Given the description of an element on the screen output the (x, y) to click on. 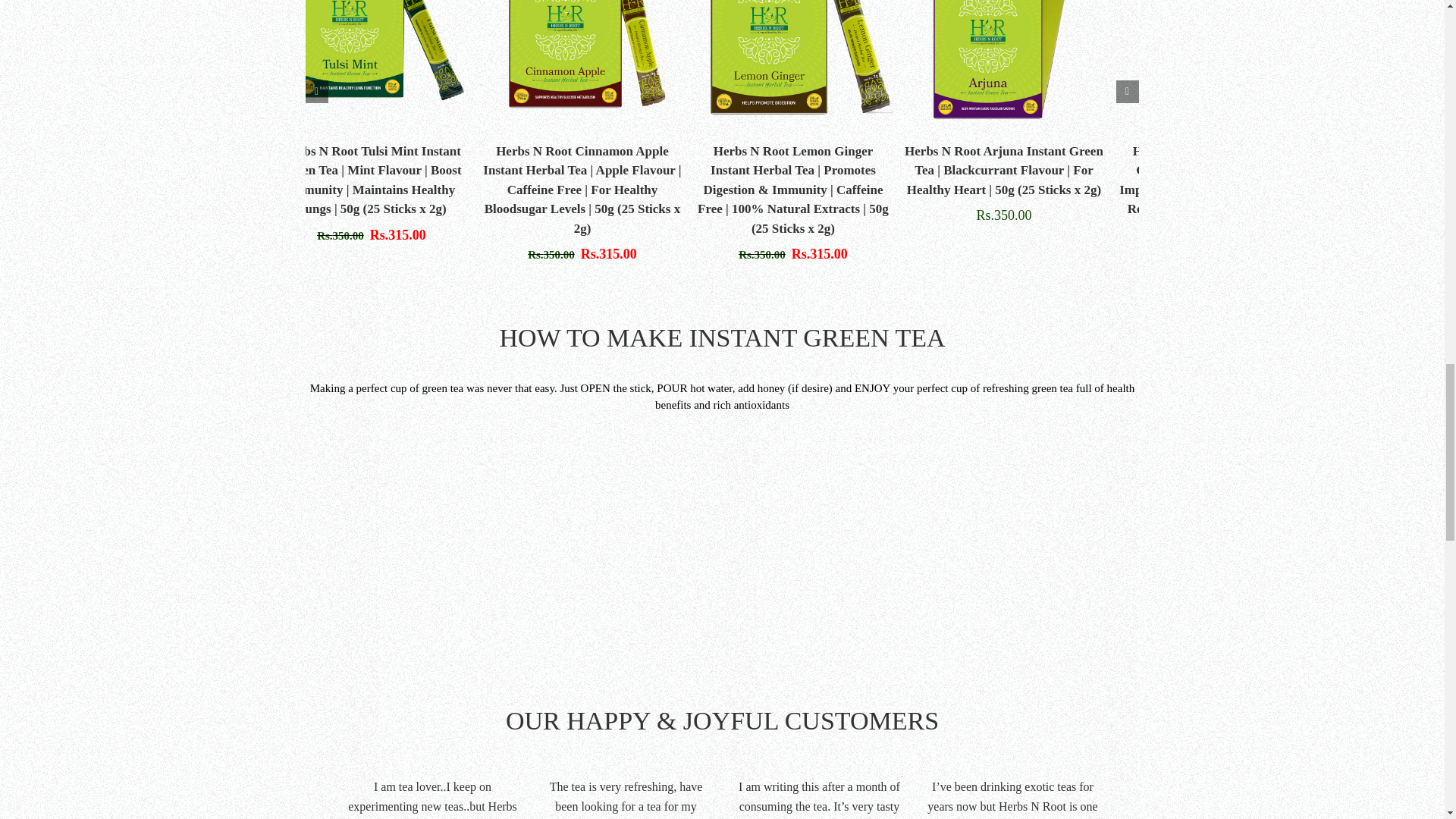
YouTube video player (721, 548)
